Given the description of an element on the screen output the (x, y) to click on. 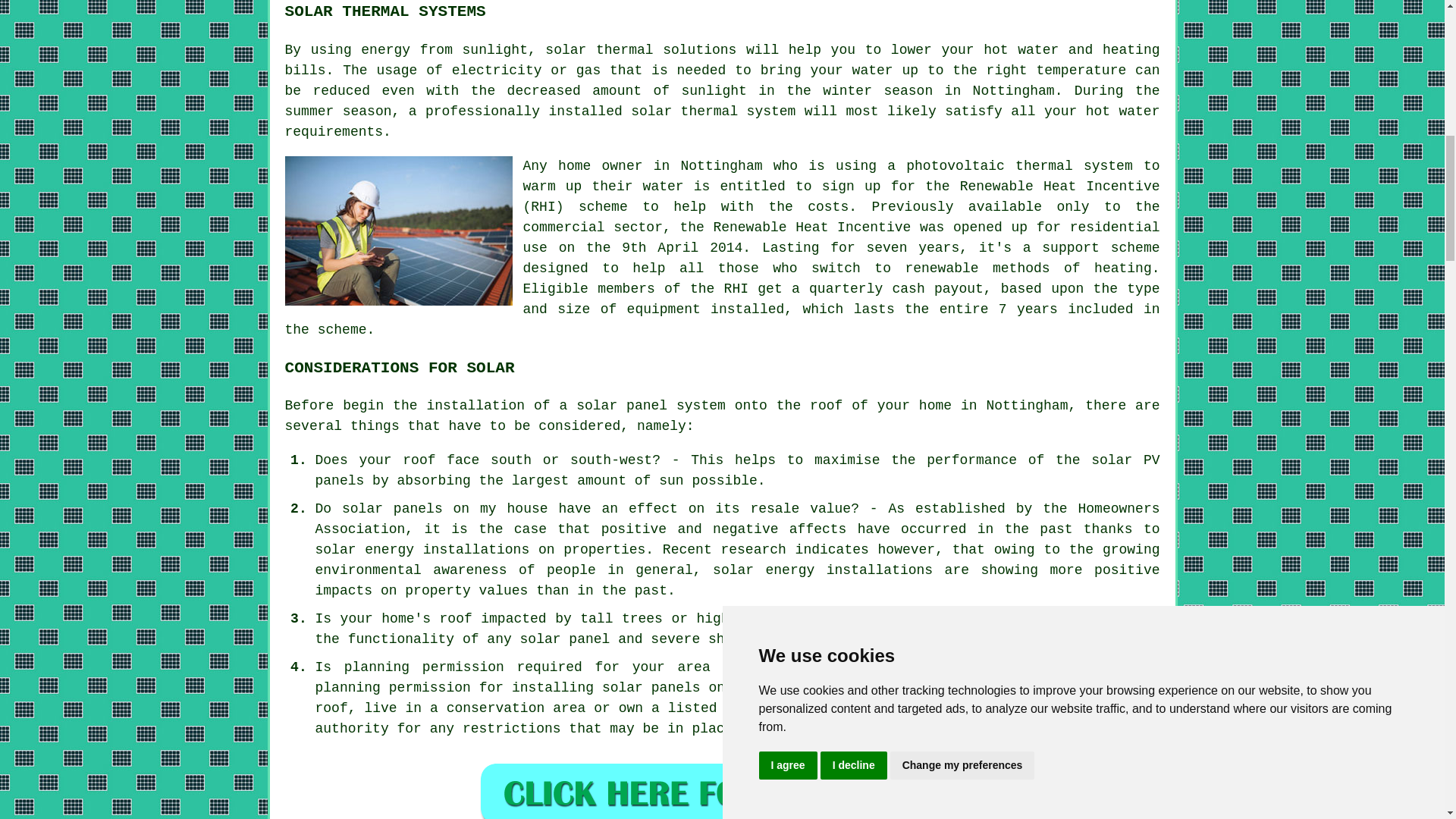
Solar Panel Installer Quotes in Nottingham (722, 789)
solar thermal system (712, 110)
Solar Panel Installers Nottingham (398, 230)
installation (475, 405)
renewable (941, 268)
